Given the description of an element on the screen output the (x, y) to click on. 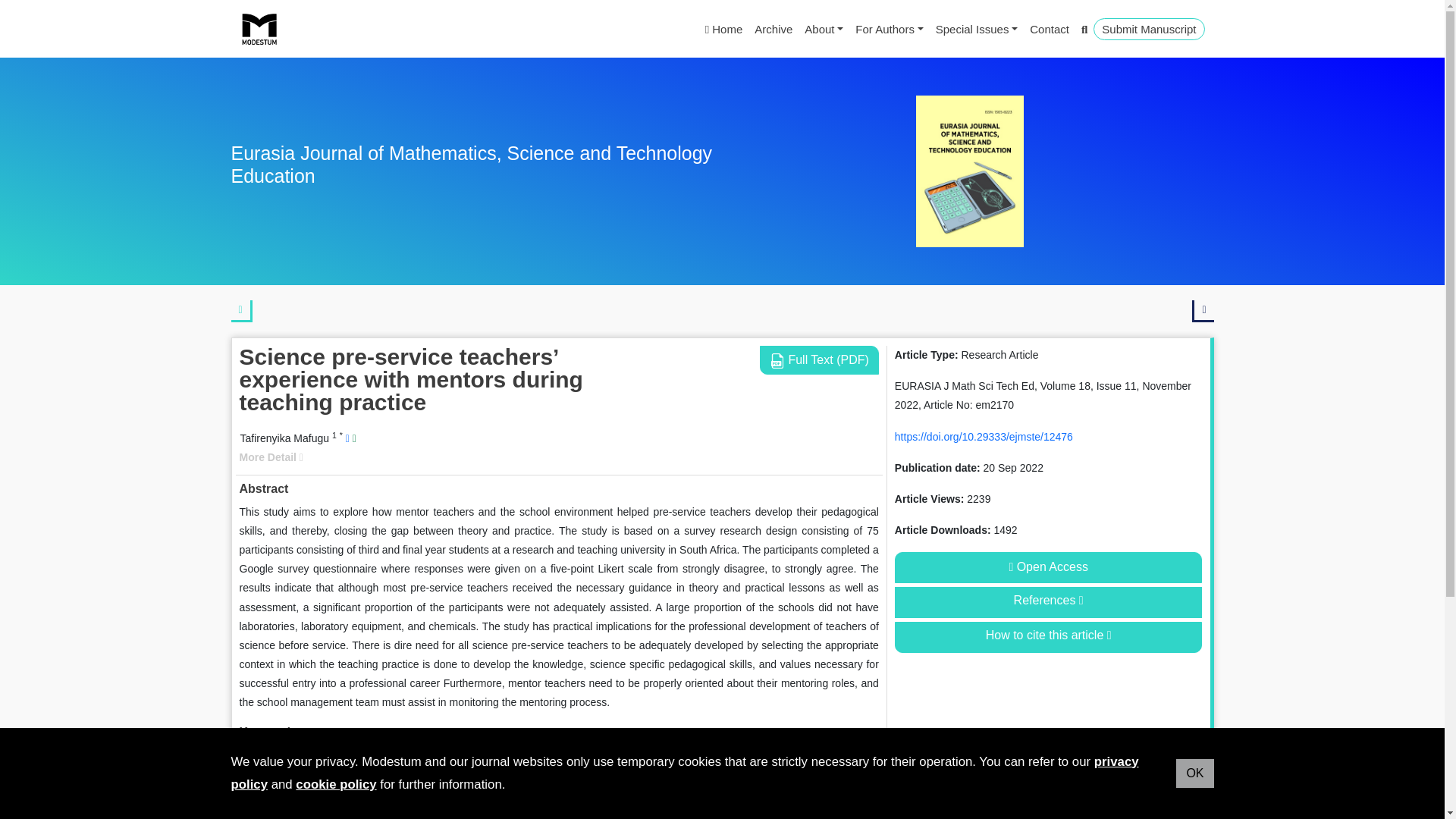
Submit Manuscript (1148, 29)
Home (723, 28)
Archive (772, 28)
Contact (1049, 28)
Special Issues (977, 28)
Next article (1202, 311)
mentor (357, 757)
About (822, 28)
pedagogical skills (423, 757)
Back to article list (240, 311)
